Given the description of an element on the screen output the (x, y) to click on. 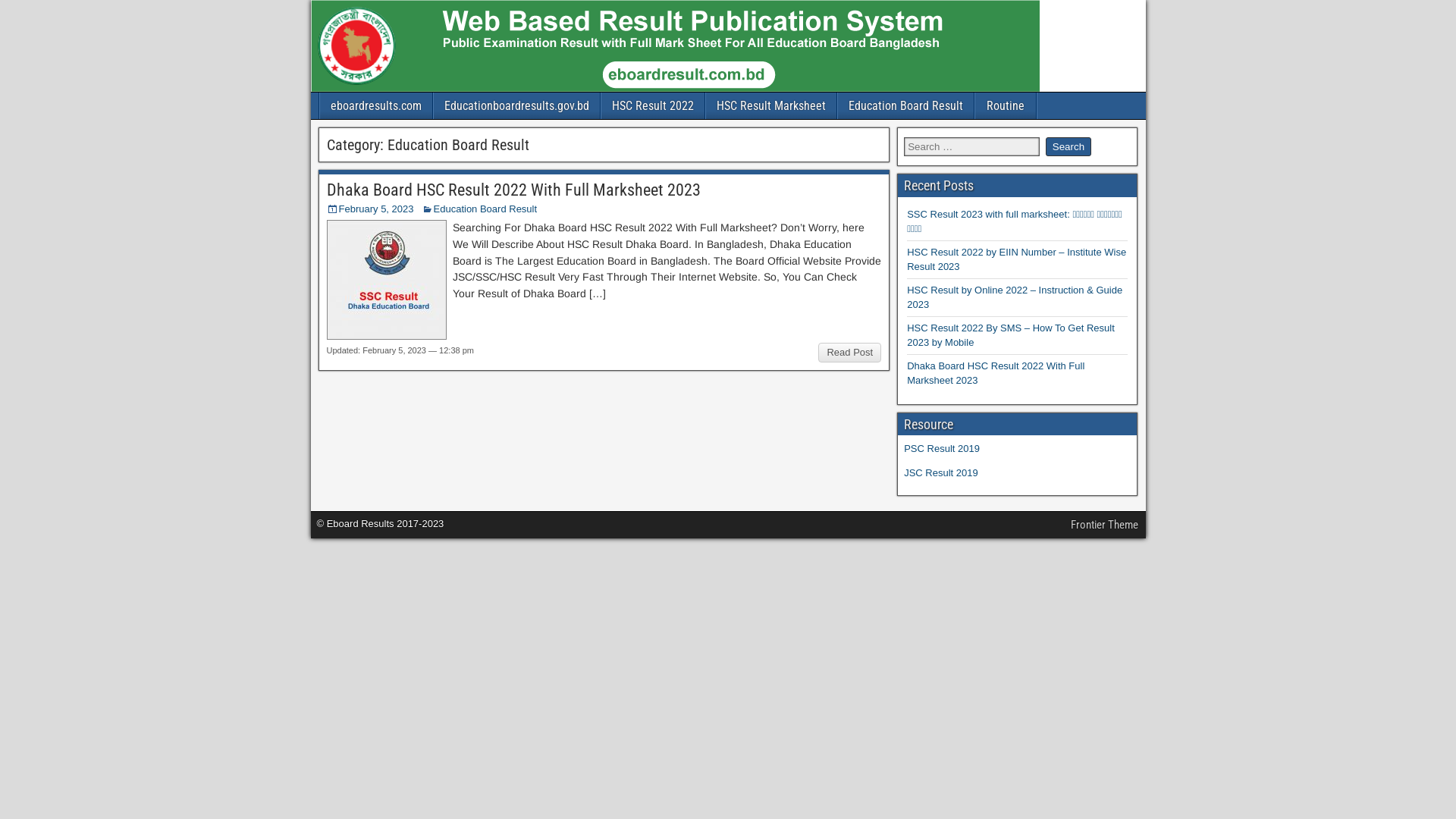
Education Board Result Element type: text (904, 105)
Educationboardresults.gov.bd Element type: text (516, 105)
Routine Element type: text (1005, 105)
Frontier Theme Element type: text (1104, 524)
Search Element type: text (1068, 146)
eboardresults.com Element type: text (376, 105)
HSC Result 2022 Element type: text (651, 105)
February 5, 2023 Element type: text (375, 208)
HSC Result Marksheet Element type: text (770, 105)
Dhaka Board HSC Result 2022 With Full Marksheet 2023 Element type: text (995, 373)
Dhaka Board HSC Result 2022 With Full Marksheet 2023 Element type: text (512, 189)
Read Post Element type: text (849, 352)
Education Board Result Element type: text (485, 208)
PSC Result 2019 Element type: text (941, 448)
JSC Result 2019 Element type: text (940, 472)
